Given the description of an element on the screen output the (x, y) to click on. 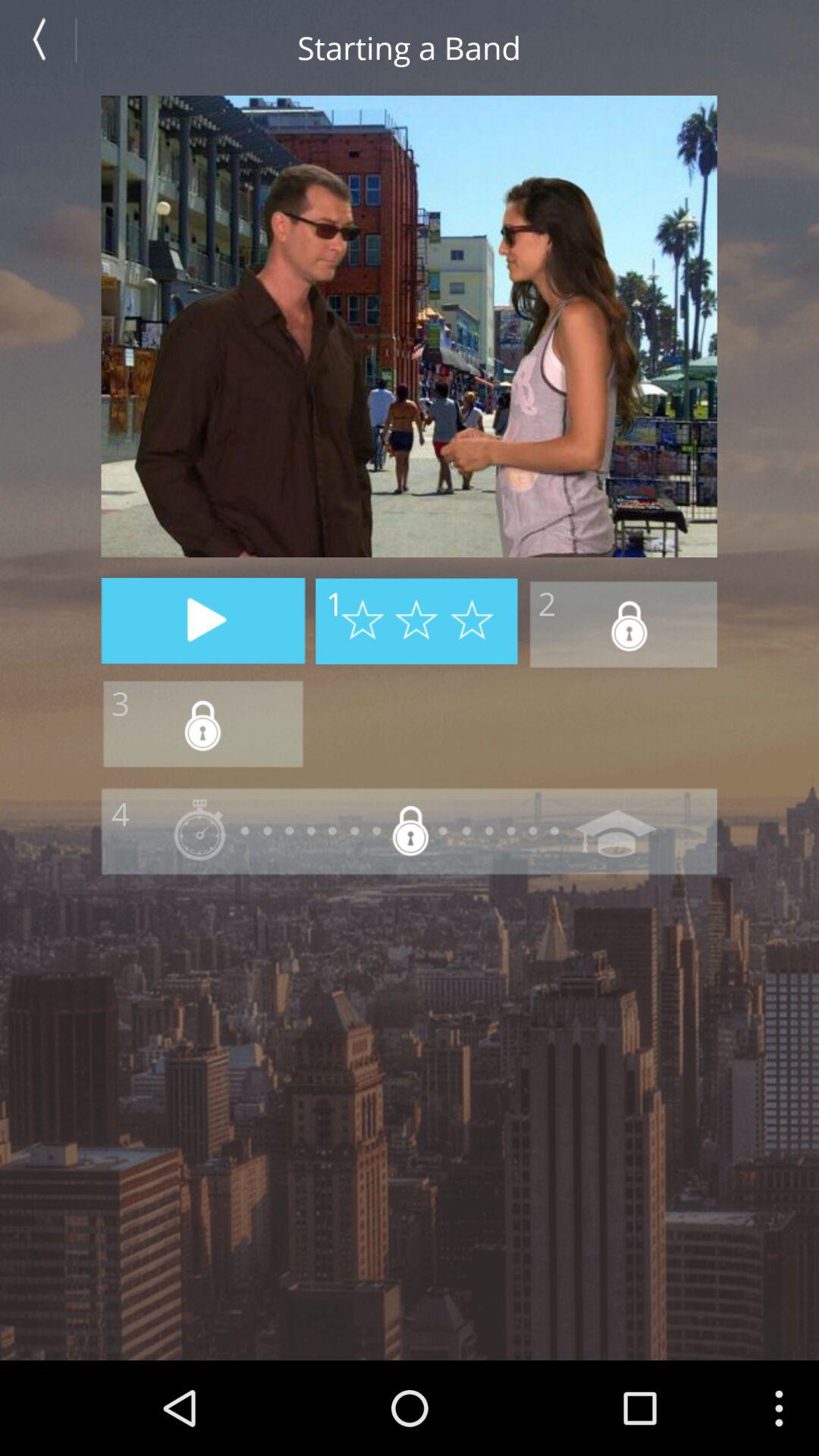
play (203, 620)
